Given the description of an element on the screen output the (x, y) to click on. 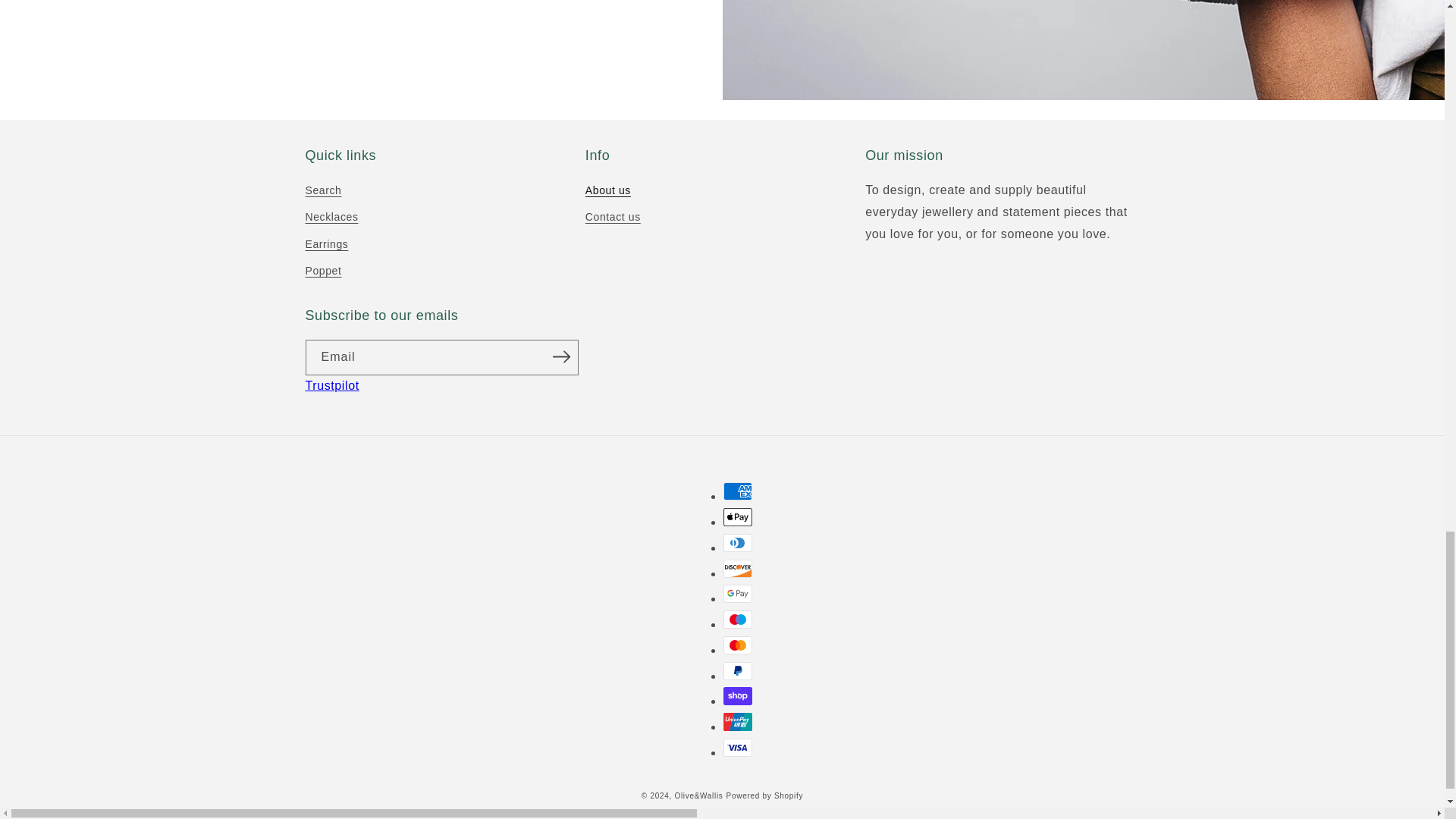
Google Pay (737, 593)
Maestro (737, 619)
Mastercard (737, 645)
Visa (737, 747)
Union Pay (737, 721)
Diners Club (737, 542)
Shop Pay (737, 696)
PayPal (737, 670)
American Express (737, 491)
Apple Pay (737, 516)
